Given the description of an element on the screen output the (x, y) to click on. 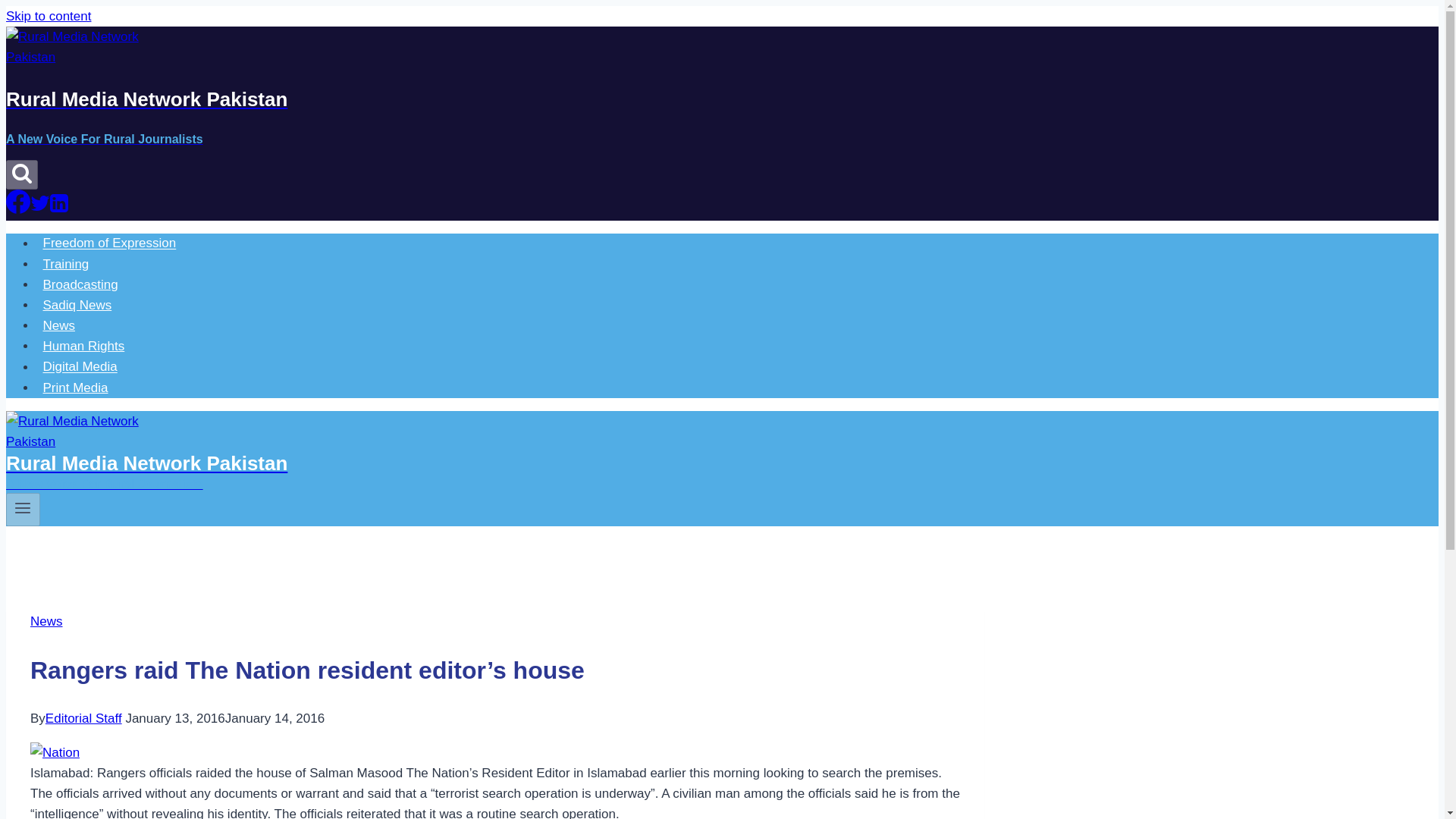
News (58, 325)
Facebook (17, 209)
Search (21, 174)
Broadcasting (79, 284)
Print Media (75, 387)
Facebook (17, 201)
Linkedin (58, 209)
News (46, 621)
Skip to content (47, 16)
Twitter (39, 202)
Sadiq News (76, 305)
Training (66, 264)
Toggle Menu (22, 509)
Search (21, 172)
